Given the description of an element on the screen output the (x, y) to click on. 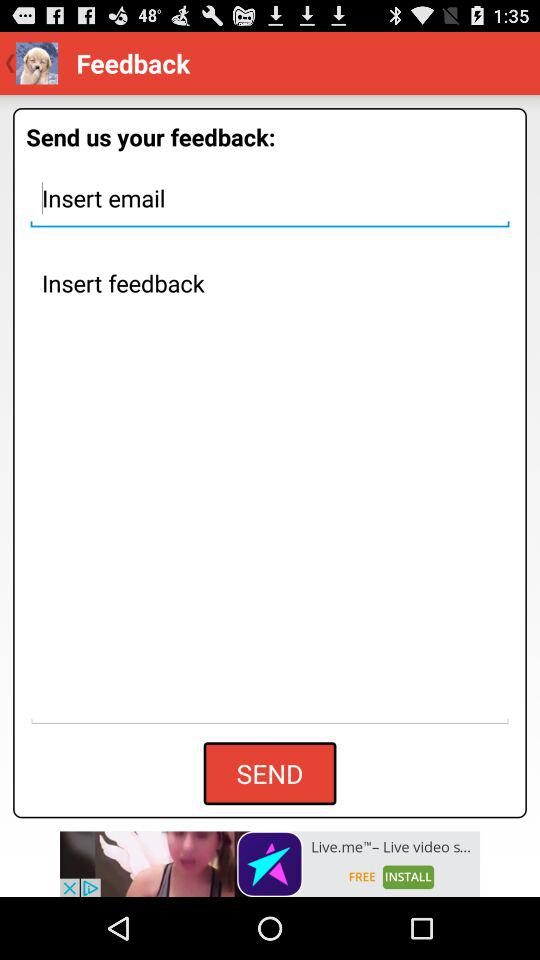
email address space (269, 198)
